Given the description of an element on the screen output the (x, y) to click on. 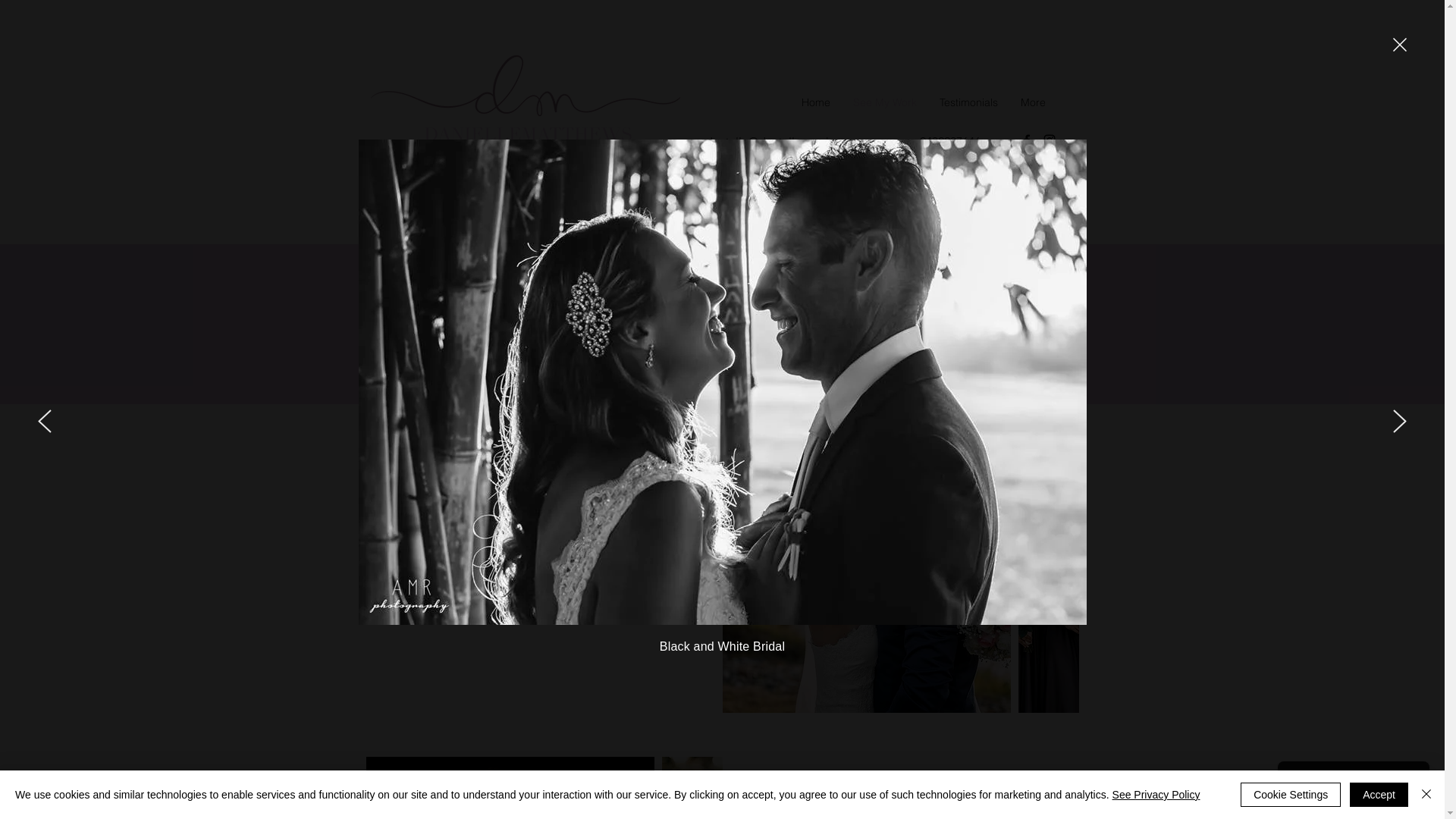
Embedded Content Element type: hover (722, 590)
danielle@daniellematthews.com.au Element type: text (800, 141)
Accept Element type: text (1378, 794)
Embedded Content Element type: hover (722, 199)
Home Element type: text (815, 102)
DanielleMatthews4_edited_edited.png Element type: hover (524, 106)
See Privacy Policy Element type: text (1156, 794)
See My Work Element type: text (884, 102)
Testimonials Element type: text (968, 102)
Cookie Settings Element type: text (1290, 794)
